Given the description of an element on the screen output the (x, y) to click on. 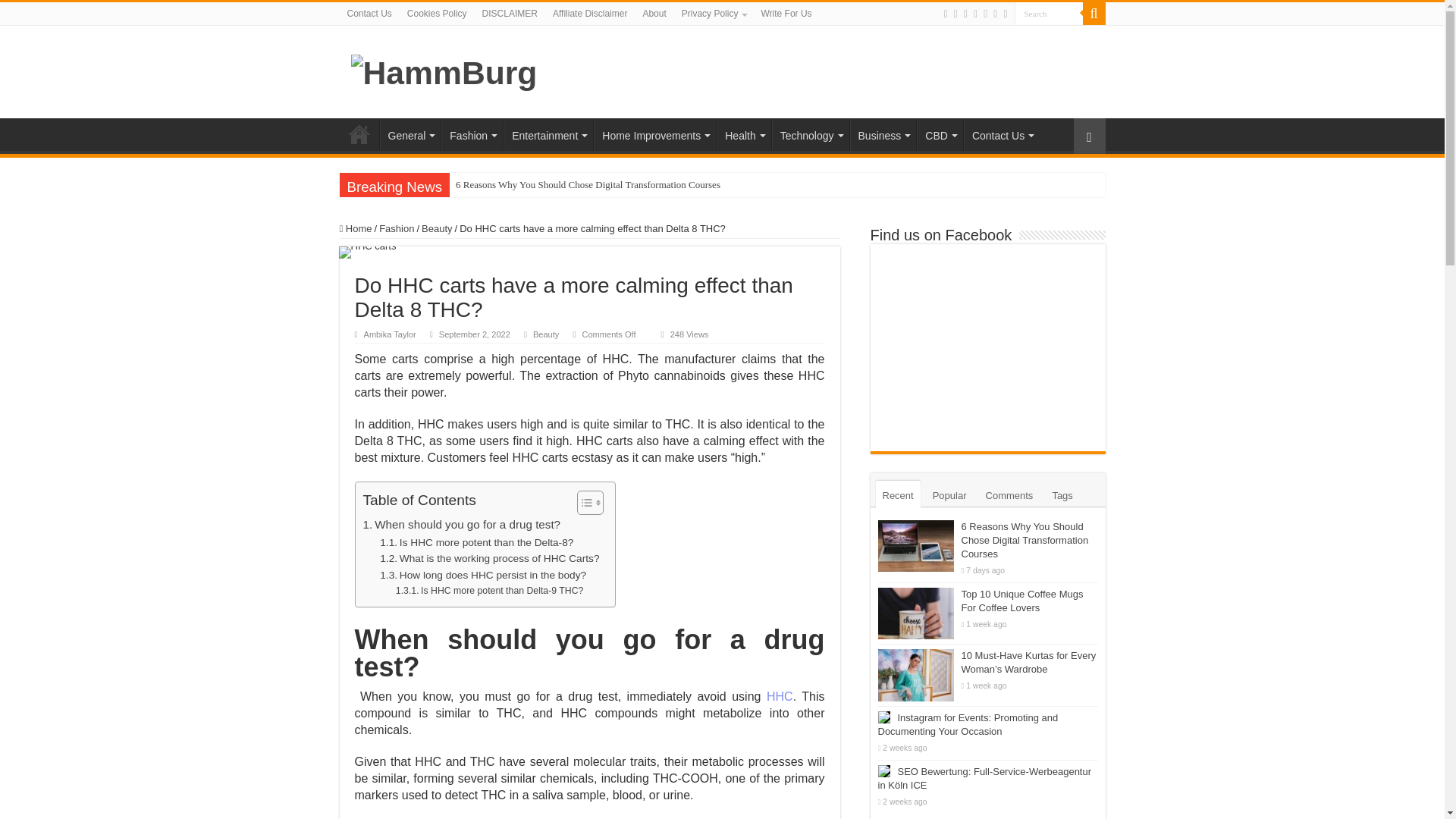
Search (1048, 13)
Search (1048, 13)
Search (1048, 13)
